Given the description of an element on the screen output the (x, y) to click on. 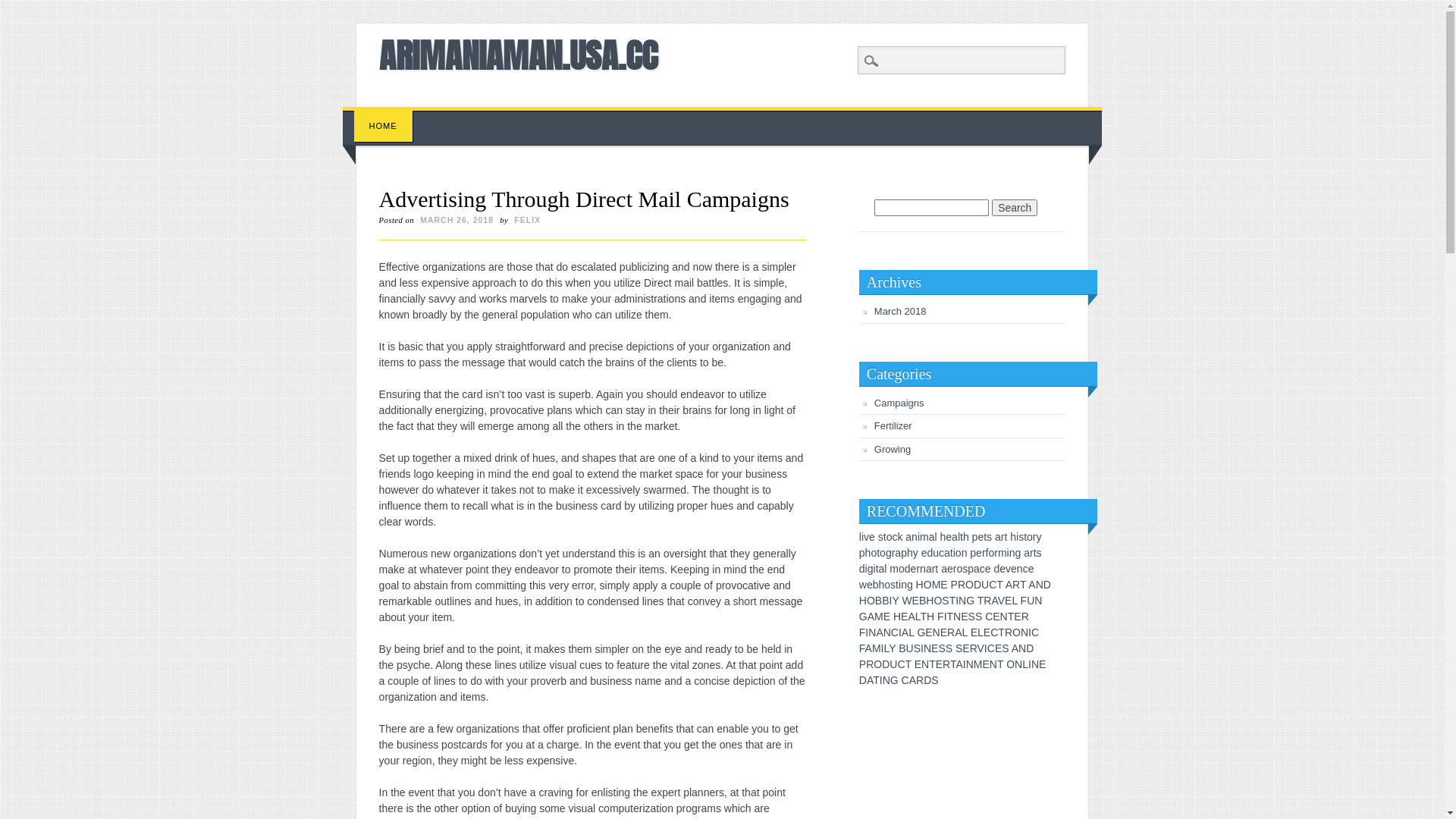
ARIMANIAMAN.USA.CC Element type: text (518, 55)
R Element type: text (973, 648)
r Element type: text (1034, 536)
L Element type: text (1025, 664)
r Element type: text (983, 552)
E Element type: text (943, 632)
A Element type: text (868, 648)
M Element type: text (876, 648)
L Element type: text (910, 632)
N Element type: text (1018, 664)
i Element type: text (1017, 536)
S Element type: text (948, 648)
A Element type: text (912, 680)
t Element type: text (877, 552)
I Element type: text (1029, 664)
G Element type: text (920, 632)
L Element type: text (885, 648)
g Element type: text (1018, 552)
P Element type: text (953, 584)
G Element type: text (894, 680)
i Element type: text (1008, 552)
R Element type: text (987, 600)
E Element type: text (997, 648)
L Element type: text (964, 632)
M Element type: text (977, 664)
H Element type: text (919, 584)
u Element type: text (935, 552)
E Element type: text (938, 664)
T Element type: text (1000, 664)
T Element type: text (931, 664)
S Element type: text (978, 616)
g Element type: text (909, 584)
A Element type: text (870, 616)
V Element type: text (1000, 600)
Advertising Through Direct Mail Campaigns Element type: text (584, 198)
d Element type: text (929, 552)
d Element type: text (907, 568)
e Element type: text (1013, 568)
N Element type: text (1039, 584)
C Element type: text (993, 632)
y Element type: text (1038, 536)
T Element type: text (1022, 584)
i Element type: text (866, 568)
c Element type: text (894, 536)
V Element type: text (980, 648)
D Element type: text (977, 584)
t Element type: text (1034, 552)
E Element type: text (985, 664)
Growing Element type: text (892, 449)
I Element type: text (1029, 632)
p Element type: text (862, 552)
B Element type: text (878, 600)
I Element type: text (899, 632)
A Element type: text (878, 632)
Y Element type: text (894, 600)
T Element type: text (952, 600)
S Element type: text (1004, 648)
I Element type: text (921, 648)
r Element type: text (995, 552)
m Element type: text (923, 536)
B Element type: text (901, 648)
i Element type: text (874, 568)
N Element type: text (969, 664)
s Element type: text (1038, 552)
E Element type: text (995, 616)
O Element type: text (870, 600)
k Element type: text (899, 536)
C Element type: text (905, 680)
e Element type: text (872, 536)
A Element type: text (957, 632)
N Element type: text (993, 664)
H Element type: text (896, 616)
C Element type: text (900, 664)
c Element type: text (1025, 568)
F Element type: text (862, 648)
a Element type: text (976, 568)
h Element type: text (1013, 536)
a Element type: text (928, 568)
S Element type: text (971, 616)
A Element type: text (958, 664)
R Element type: text (961, 584)
U Element type: text (984, 584)
Search Element type: text (1014, 207)
D Element type: text (862, 680)
c Element type: text (982, 568)
h Element type: text (909, 552)
A Element type: text (1031, 584)
m Element type: text (1002, 552)
y Element type: text (915, 552)
e Element type: text (913, 568)
h Element type: text (881, 584)
e Element type: text (948, 536)
I Element type: text (882, 648)
O Element type: text (937, 600)
I Element type: text (889, 600)
h Element type: text (966, 536)
T Element type: text (908, 664)
S Element type: text (958, 648)
g Element type: text (888, 552)
C Element type: text (1034, 632)
t Element type: text (936, 568)
t Element type: text (1005, 536)
E Element type: text (963, 616)
E Element type: text (886, 616)
E Element type: text (903, 616)
Campaigns Element type: text (899, 402)
N Element type: text (871, 632)
i Element type: text (899, 584)
E Element type: text (986, 632)
a Element type: text (1026, 552)
o Element type: text (958, 552)
T Element type: text (950, 616)
HOME Element type: text (383, 125)
N Element type: text (1003, 616)
p Element type: text (975, 536)
O Element type: text (927, 584)
l Element type: text (860, 536)
Y Element type: text (891, 648)
o Element type: text (882, 552)
r Element type: text (1031, 552)
n Element type: text (903, 584)
d Element type: text (862, 568)
E Element type: text (1041, 664)
e Element type: text (988, 568)
T Element type: text (980, 600)
Fertilizer Element type: text (893, 425)
t Element type: text (1024, 536)
A Element type: text (994, 600)
o Element type: text (873, 552)
f Element type: text (986, 552)
t Element type: text (876, 568)
n Element type: text (914, 536)
S Element type: text (944, 600)
FELIX Element type: text (527, 219)
O Element type: text (1010, 664)
v Element type: text (866, 536)
a Element type: text (947, 552)
U Element type: text (909, 648)
E Element type: text (917, 664)
N Element type: text (956, 616)
E Element type: text (1016, 616)
T Element type: text (923, 616)
e Element type: text (980, 536)
E Element type: text (934, 648)
h Element type: text (943, 536)
L Element type: text (980, 632)
e Element type: text (869, 584)
N Element type: text (927, 648)
n Element type: text (922, 568)
F Element type: text (940, 616)
F Element type: text (862, 632)
A Element type: text (1014, 648)
Skip to content Element type: text (377, 114)
a Element type: text (931, 536)
I Element type: text (956, 600)
A Element type: text (1008, 584)
r Element type: text (893, 552)
r Element type: text (917, 568)
U Element type: text (893, 664)
E Element type: text (1007, 600)
o Element type: text (901, 568)
L Element type: text (917, 616)
N Element type: text (962, 600)
S Element type: text (941, 648)
R Element type: text (919, 680)
a Element type: text (897, 552)
e Element type: text (950, 568)
N Element type: text (886, 680)
R Element type: text (1015, 584)
c Element type: text (941, 552)
m Element type: text (893, 568)
I Element type: text (964, 664)
s Element type: text (892, 584)
l Element type: text (958, 536)
a Element type: text (944, 568)
p Element type: text (972, 552)
r Element type: text (955, 568)
T Element type: text (1010, 616)
R Element type: text (869, 664)
t Element type: text (884, 536)
D Element type: text (1047, 584)
O Element type: text (969, 584)
G Element type: text (970, 600)
a Element type: text (954, 536)
M Element type: text (878, 616)
o Element type: text (959, 568)
e Element type: text (924, 552)
a Element type: text (997, 536)
D Element type: text (927, 680)
s Element type: text (988, 536)
S Element type: text (934, 680)
I Element type: text (880, 680)
t Element type: text (984, 536)
a Element type: text (908, 536)
P Element type: text (862, 664)
MARCH 26, 2018 Element type: text (456, 219)
n Element type: text (1012, 552)
E Element type: text (973, 632)
M Element type: text (936, 584)
A Element type: text (869, 680)
n Element type: text (1019, 568)
B Element type: text (884, 600)
T Element type: text (1000, 632)
T Element type: text (953, 664)
i Element type: text (954, 552)
t Element type: text (951, 552)
E Element type: text (965, 648)
l Element type: text (935, 536)
I Element type: text (866, 632)
d Element type: text (996, 568)
p Element type: text (903, 552)
U Element type: text (1030, 600)
H Element type: text (930, 616)
C Element type: text (894, 632)
March 2018 Element type: text (900, 310)
R Element type: text (1008, 632)
L Element type: text (1013, 600)
A Element type: text (910, 616)
s Element type: text (880, 536)
N Element type: text (1022, 648)
T Element type: text (875, 680)
G Element type: text (863, 616)
l Element type: text (885, 568)
N Element type: text (887, 632)
N Element type: text (924, 664)
A Element type: text (904, 632)
I Element type: text (985, 648)
o Element type: text (1029, 536)
r Element type: text (933, 568)
C Element type: text (988, 616)
i Element type: text (862, 536)
Search Element type: text (22, 8)
h Element type: text (868, 552)
W Element type: text (906, 600)
I Element type: text (945, 616)
H Element type: text (862, 600)
C Element type: text (990, 648)
F Element type: text (1023, 600)
B Element type: text (922, 600)
O Element type: text (877, 664)
D Element type: text (885, 664)
T Element type: text (999, 584)
E Element type: text (943, 584)
C Element type: text (992, 584)
n Element type: text (964, 552)
w Element type: text (862, 584)
R Element type: text (950, 632)
N Element type: text (1034, 664)
D Element type: text (1029, 648)
t Element type: text (896, 584)
e Element type: text (1002, 568)
t Element type: text (961, 536)
o Element type: text (887, 584)
O Element type: text (1016, 632)
o Element type: text (991, 552)
g Element type: text (870, 568)
a Element type: text (881, 568)
E Element type: text (928, 632)
S Element type: text (916, 648)
e Element type: text (1031, 568)
r Element type: text (1002, 536)
s Element type: text (964, 568)
R Element type: text (1025, 616)
e Element type: text (978, 552)
b Element type: text (875, 584)
E Element type: text (915, 600)
p Element type: text (970, 568)
N Element type: text (1037, 600)
i Element type: text (918, 536)
v Element type: text (1007, 568)
o Element type: text (889, 536)
N Element type: text (936, 632)
R Element type: text (946, 664)
H Element type: text (929, 600)
s Element type: text (1020, 536)
N Element type: text (1024, 632)
